Given the description of an element on the screen output the (x, y) to click on. 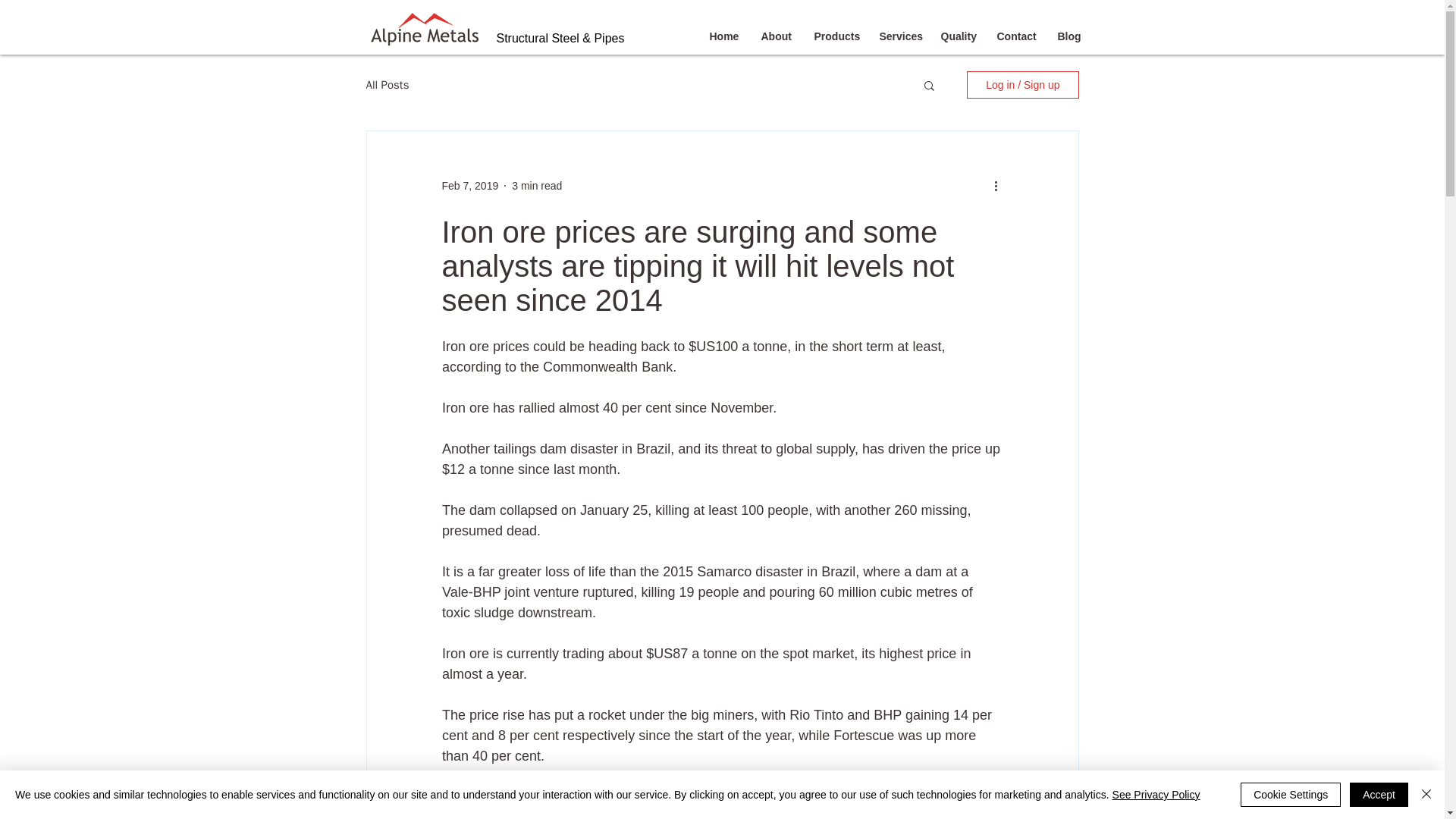
Feb 7, 2019 (469, 184)
All Posts (387, 83)
Home (723, 36)
3 min read (537, 184)
Contact (1015, 36)
About (775, 36)
See Privacy Policy (1155, 794)
Services (897, 36)
Quality (957, 36)
Blog (1068, 36)
